Given the description of an element on the screen output the (x, y) to click on. 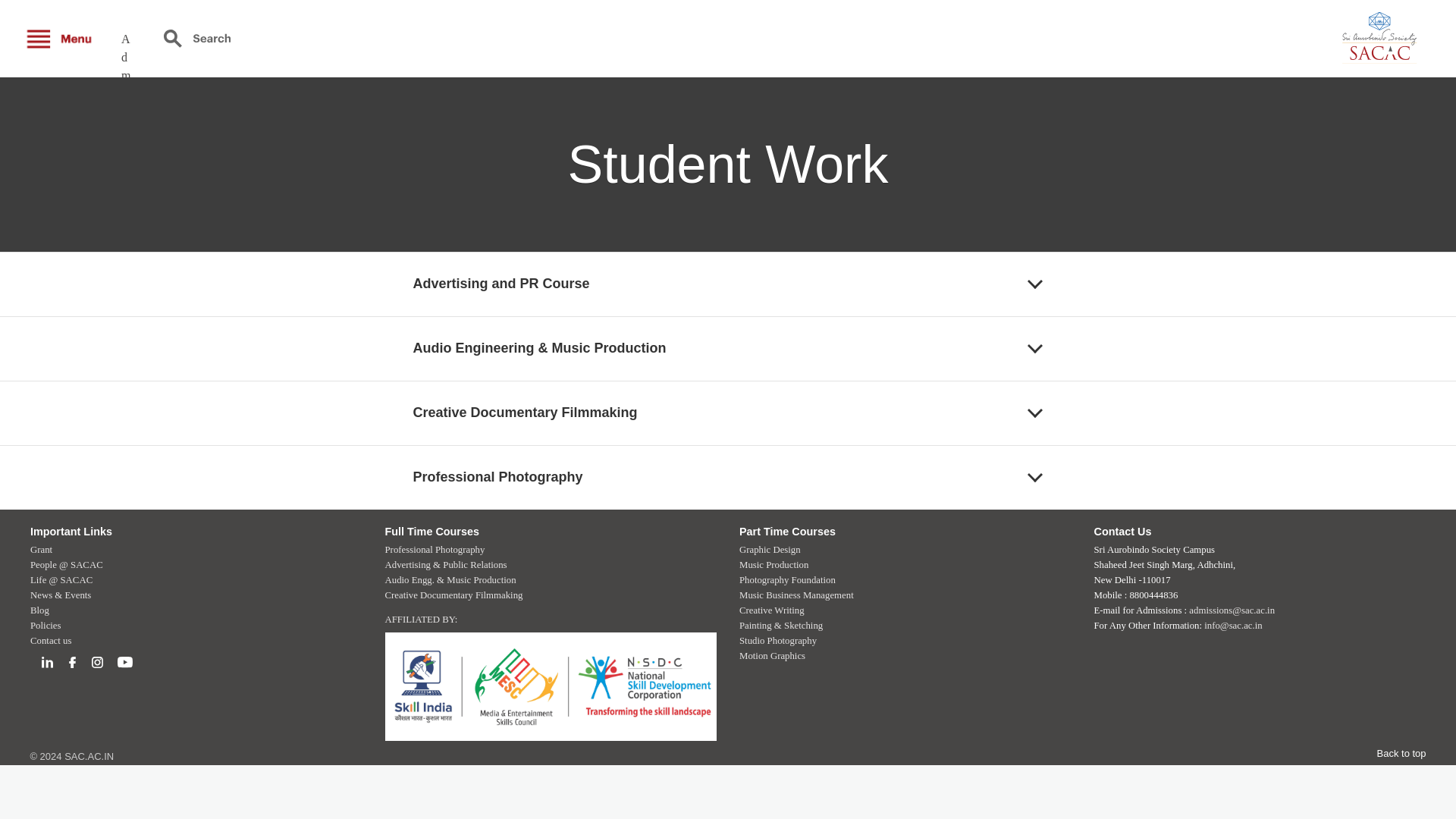
Search (196, 38)
SACAC - Sri Aurobindo Society Campus (1338, 38)
Main menu (60, 38)
